Given the description of an element on the screen output the (x, y) to click on. 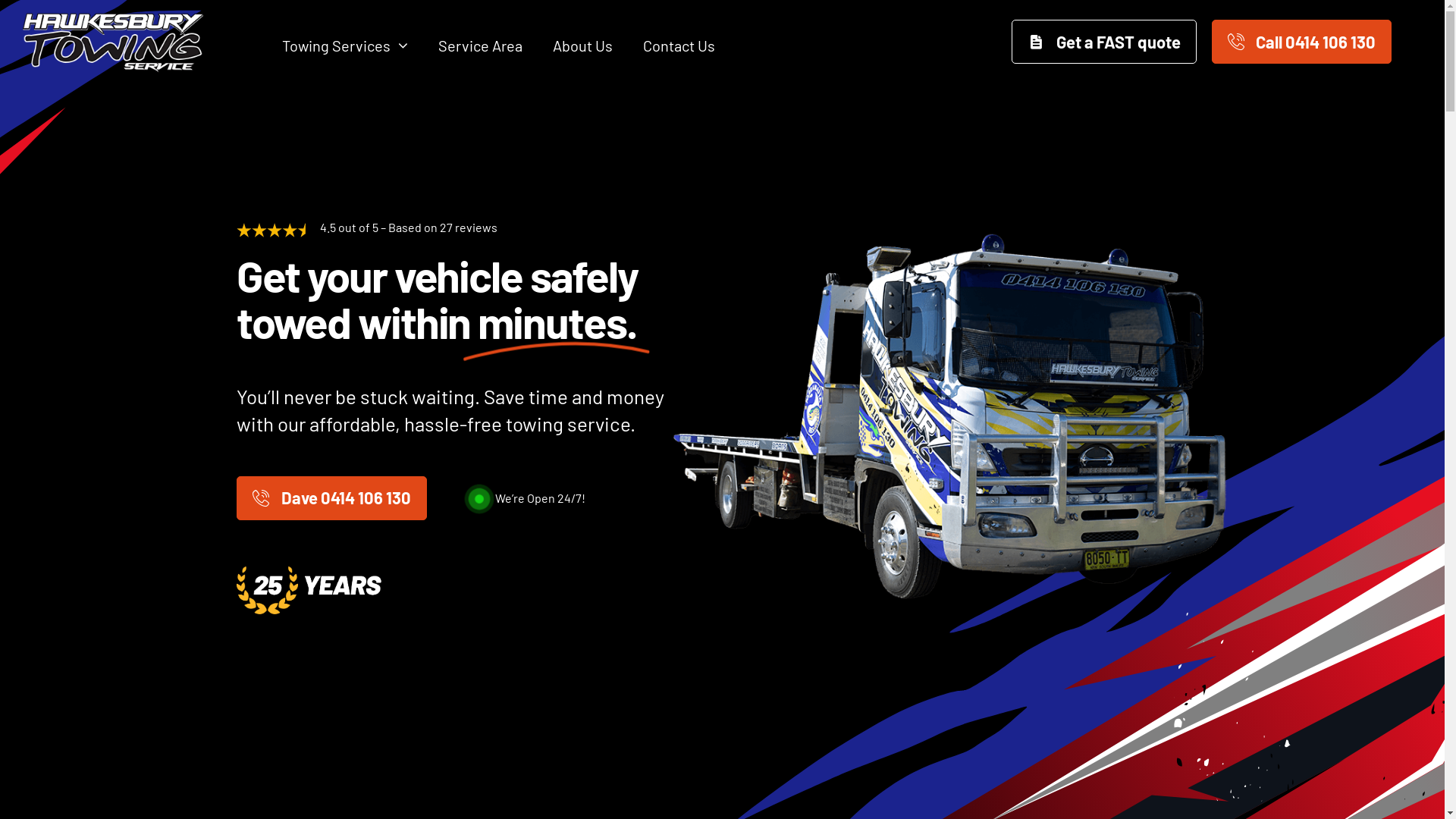
Call 0414 106 130 Element type: text (1301, 41)
25-years-wreath Element type: hover (312, 590)
Towing Services Element type: text (344, 45)
Hawkesbury-Car-Towing Element type: hover (948, 415)
Contact Us Element type: text (679, 45)
45-stars Element type: hover (274, 229)
Get a FAST quote Element type: text (1103, 41)
Dave 0414 106 130 Element type: text (331, 498)
Service Area Element type: text (480, 45)
About Us Element type: text (582, 45)
